Given the description of an element on the screen output the (x, y) to click on. 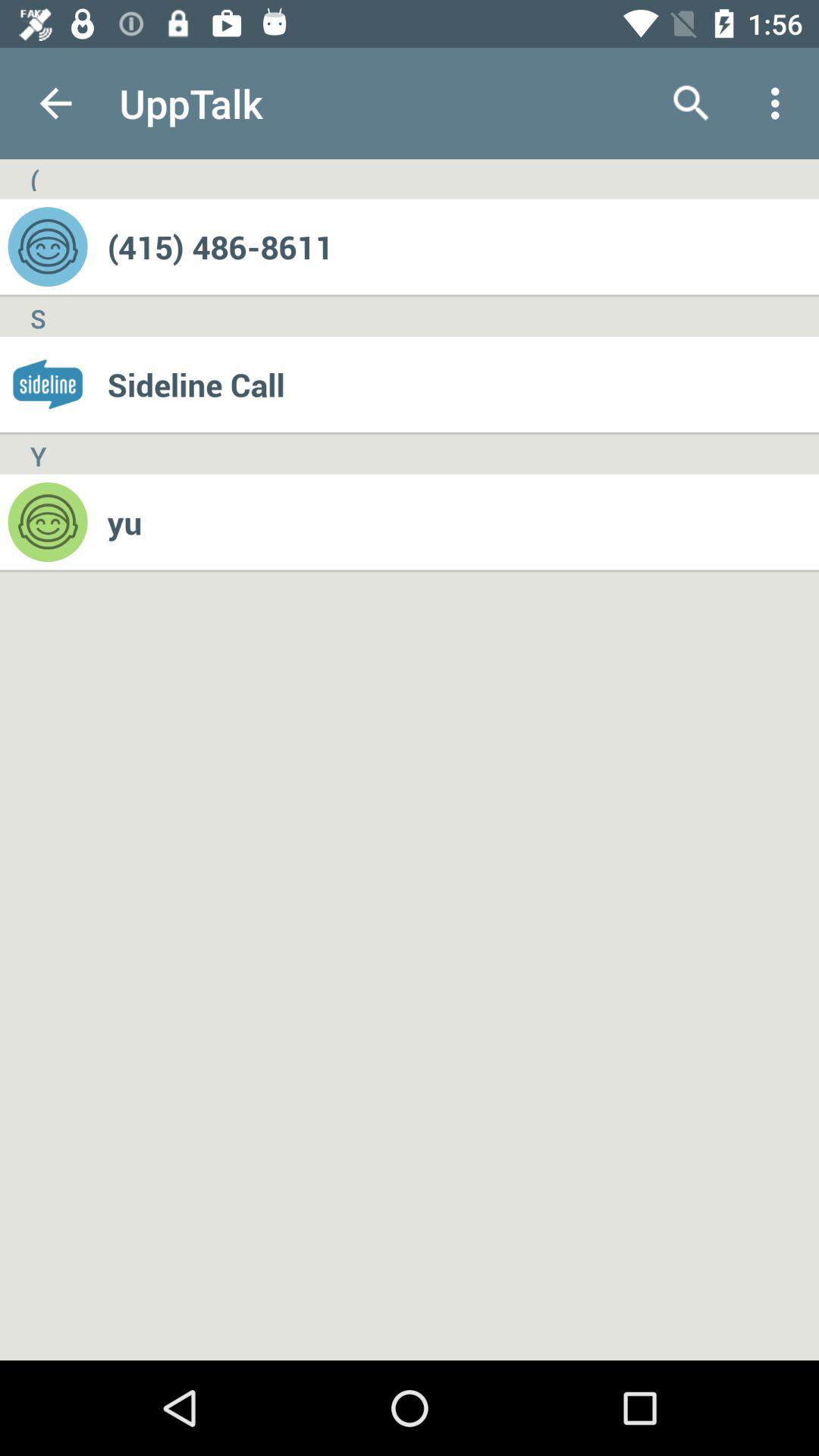
turn on the icon next to upptalk item (691, 103)
